Given the description of an element on the screen output the (x, y) to click on. 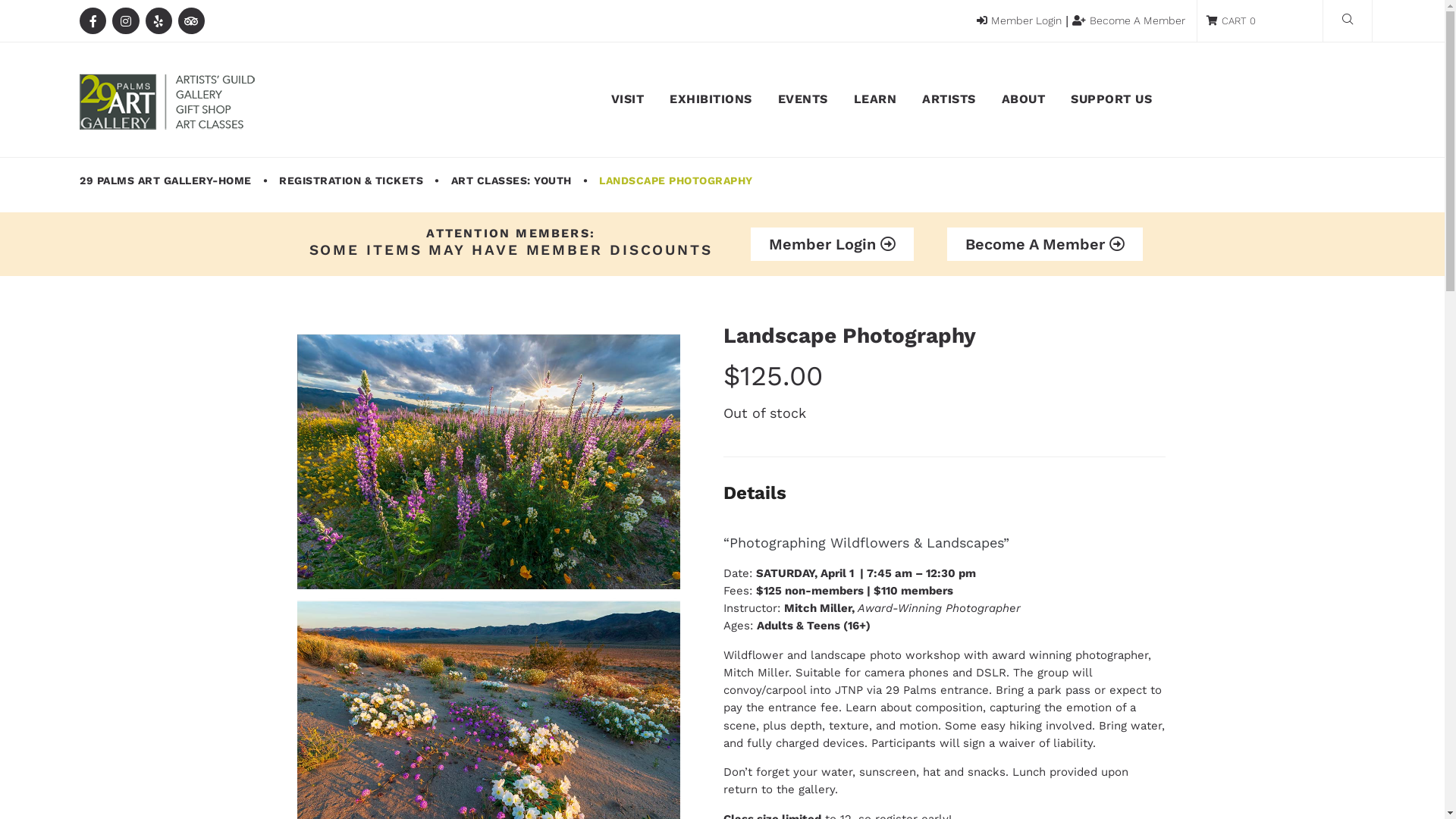
EVENTS Element type: text (802, 99)
Become A Member Element type: text (1128, 20)
ABOUT Element type: text (1023, 99)
CART
0 Element type: text (1230, 20)
EXHIBITIONS Element type: text (710, 99)
ARTISTS Element type: text (948, 99)
ART CLASSES: YOUTH Element type: text (511, 180)
Member Login Element type: text (831, 243)
SUPPORT US Element type: text (1111, 99)
29 PALMS ART GALLERY-HOME Element type: text (165, 180)
Become A Member Element type: text (1044, 243)
Member Login Element type: text (1018, 20)
REGISTRATION & TICKETS Element type: text (350, 180)
Photography Workshop with Mitch Miller Element type: hover (488, 455)
VISIT Element type: text (627, 99)
LEARN Element type: text (875, 99)
